Given the description of an element on the screen output the (x, y) to click on. 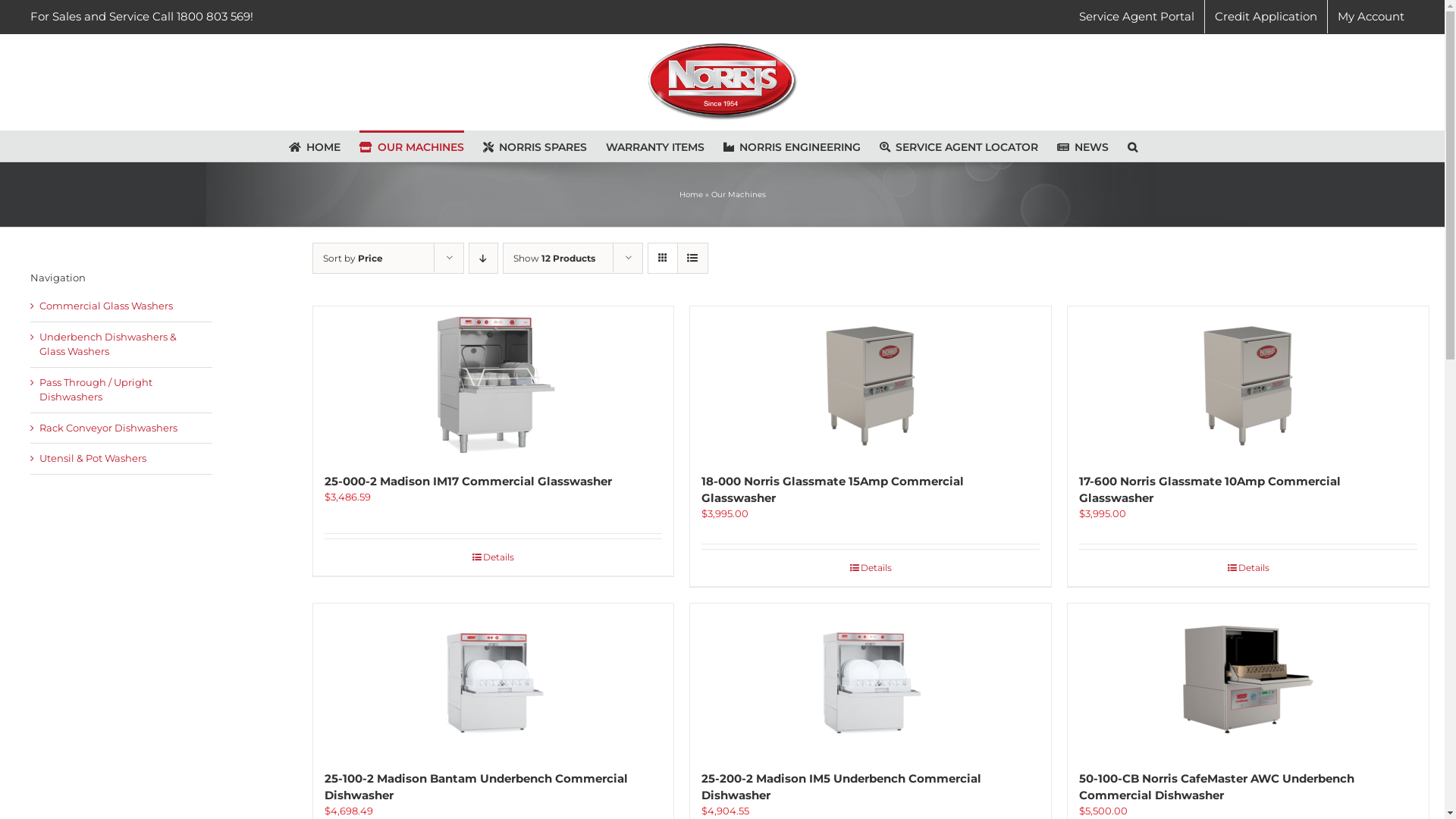
NORRIS SPARES Element type: text (534, 145)
25-100-2 Madison Bantam Underbench Commercial Dishwasher Element type: text (475, 786)
Credit Application Element type: text (1265, 16)
OUR MACHINES Element type: text (411, 145)
My Account Element type: text (1370, 16)
1800 803 569! Element type: text (214, 16)
Search Element type: hover (1131, 145)
Sort by Price Element type: text (352, 257)
25-000-2 Madison IM17 Commercial Glasswasher Element type: text (467, 480)
Show 12 Products Element type: text (554, 257)
HOME Element type: text (313, 145)
Pass Through / Upright Dishwashers Element type: text (95, 389)
Details Element type: text (493, 557)
NORRIS ENGINEERING Element type: text (791, 145)
Log In Element type: text (1418, 144)
25-200-2 Madison IM5 Underbench Commercial Dishwasher Element type: text (841, 786)
Details Element type: text (1248, 567)
SERVICE AGENT LOCATOR Element type: text (958, 145)
Service Agent Portal Element type: text (1136, 16)
Home Element type: text (690, 194)
Utensil & Pot Washers Element type: text (92, 457)
WARRANTY ITEMS Element type: text (654, 145)
Details Element type: text (870, 567)
Commercial Glass Washers Element type: text (105, 305)
Underbench Dishwashers & Glass Washers Element type: text (107, 343)
18-000 Norris Glassmate 15Amp Commercial Glasswasher Element type: text (832, 489)
NEWS Element type: text (1082, 145)
17-600 Norris Glassmate 10Amp Commercial Glasswasher Element type: text (1209, 489)
Rack Conveyor Dishwashers Element type: text (108, 427)
